Given the description of an element on the screen output the (x, y) to click on. 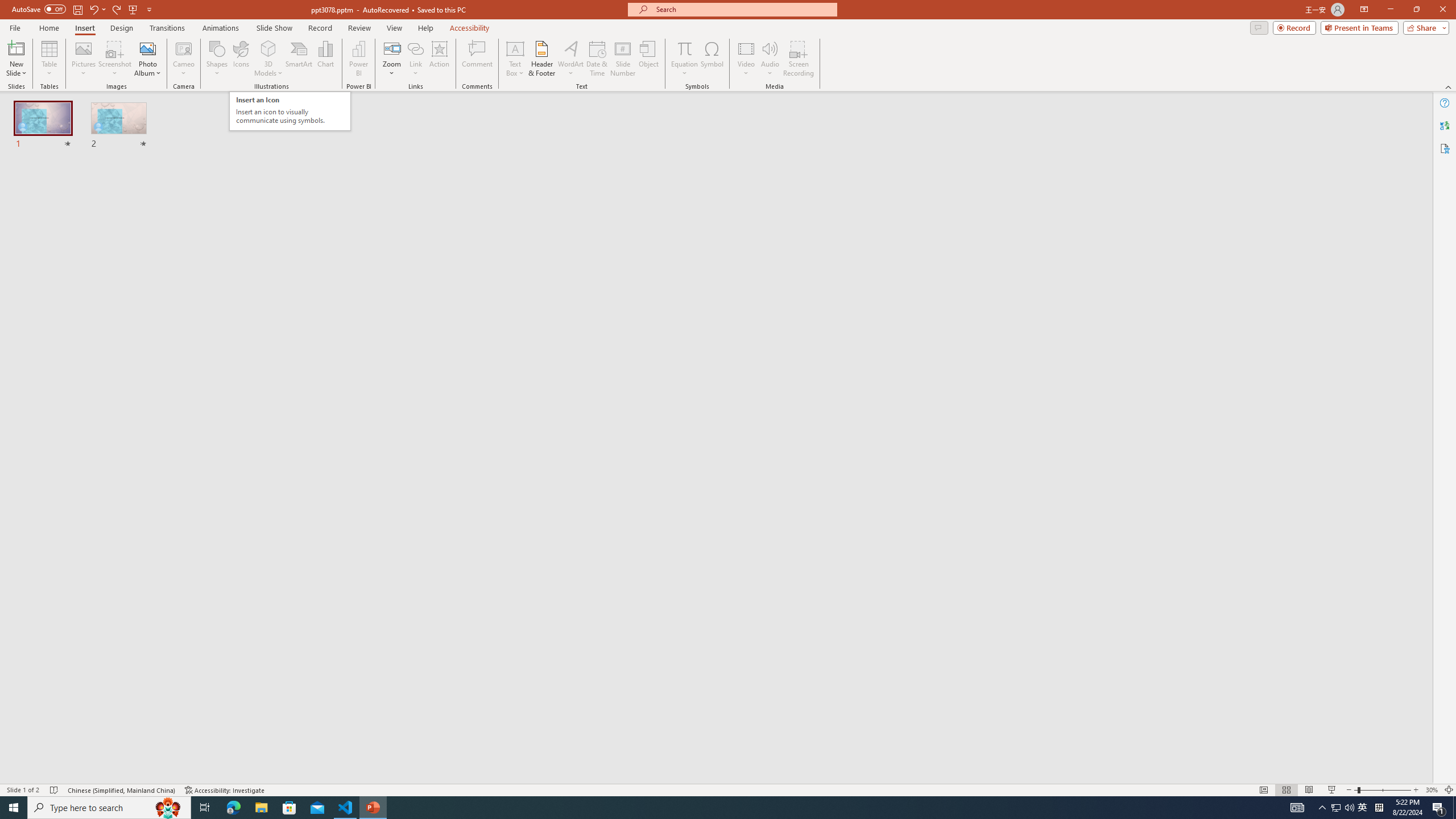
Comment (476, 58)
3D Models (268, 48)
Link (415, 58)
